Given the description of an element on the screen output the (x, y) to click on. 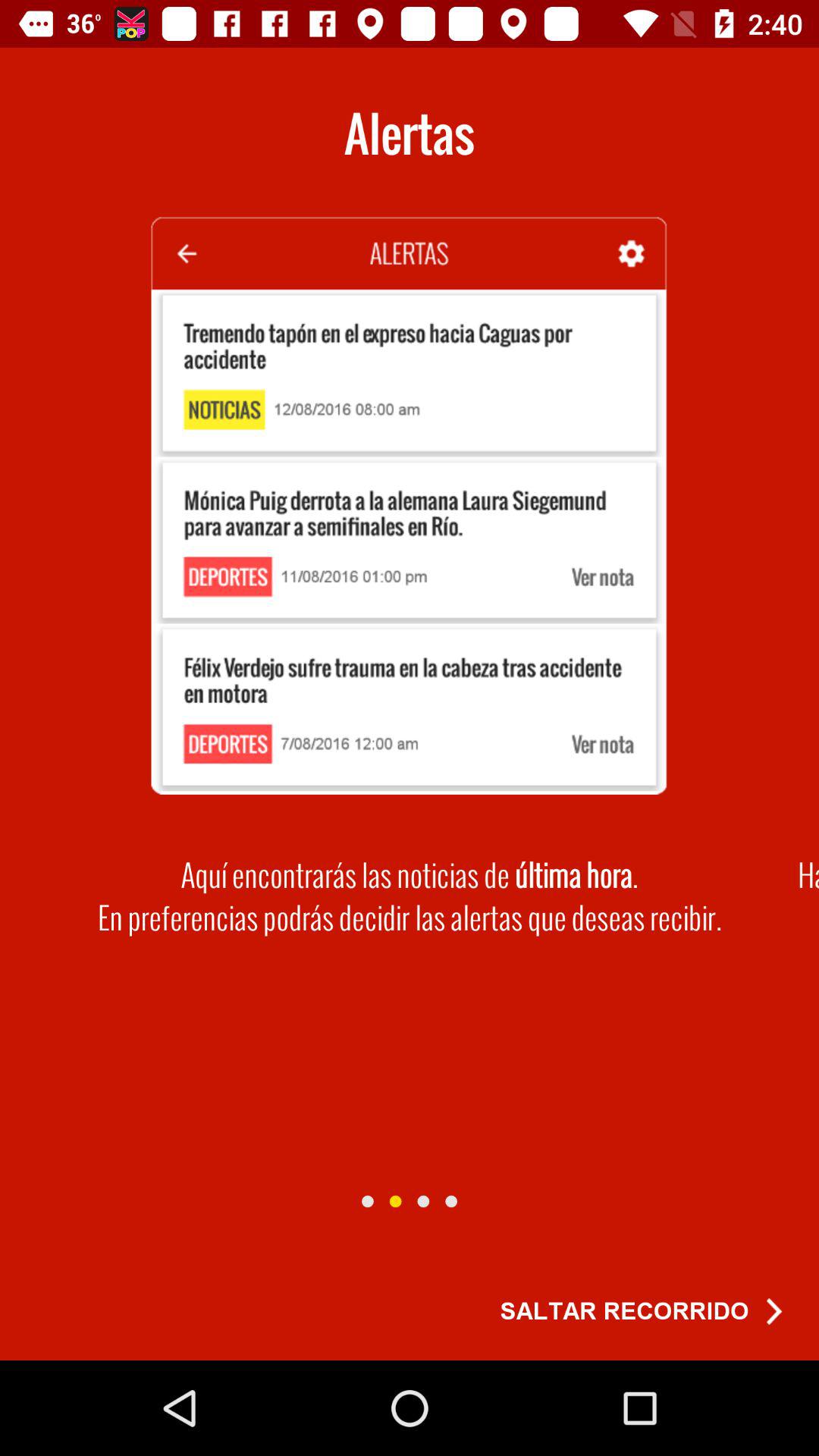
next image (367, 1201)
